Given the description of an element on the screen output the (x, y) to click on. 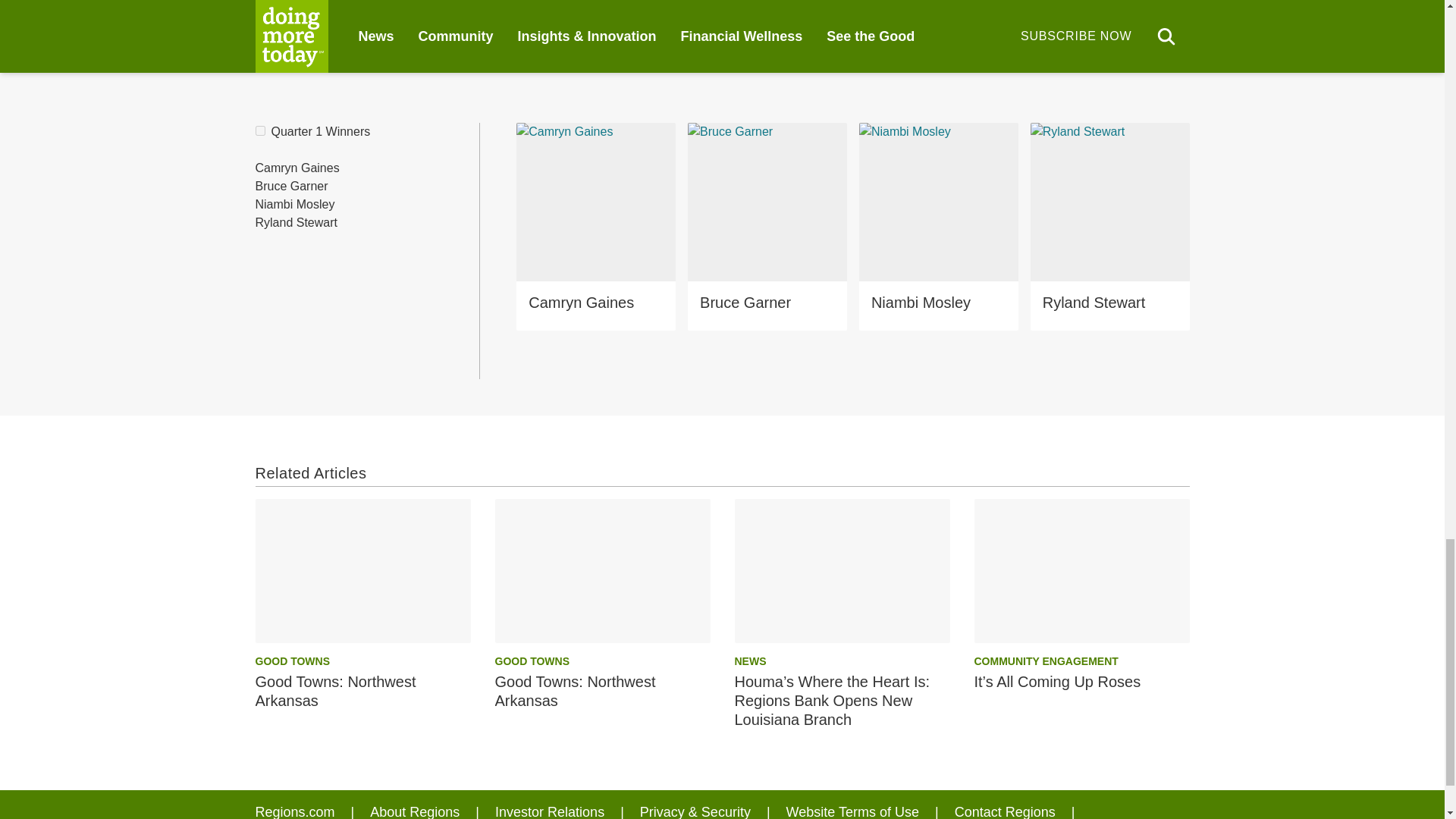
quarter-1 (259, 130)
Niambi Mosley (294, 204)
Good Towns: Northwest Arkansas (362, 570)
Bruce Garner (290, 186)
Ryland Stewart (295, 223)
Good Towns: Northwest Arkansas (602, 570)
Camryn Gaines (296, 168)
